Given the description of an element on the screen output the (x, y) to click on. 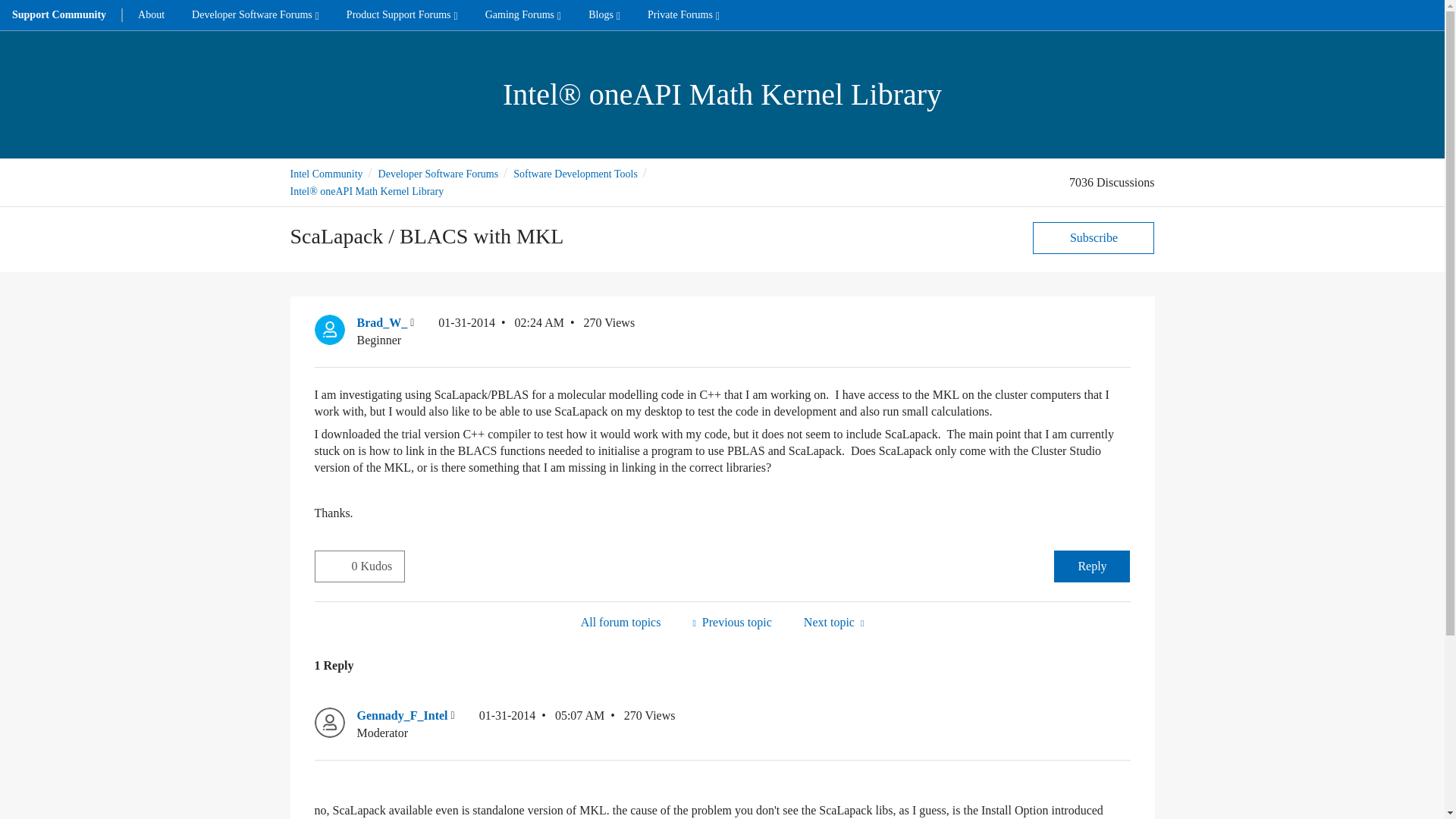
Product Support Forums (402, 15)
Tridigonal solver, gtsv or pardiso (833, 621)
Posted on (501, 331)
The total number of kudos this post has received. (377, 566)
Gaming Forums (523, 15)
Summary statistics and padding (731, 621)
Developer Software Forums (255, 15)
Click here to give kudos to this post. (332, 565)
Support Community (58, 15)
Blogs (603, 15)
About (150, 15)
Posted on (542, 724)
